Given the description of an element on the screen output the (x, y) to click on. 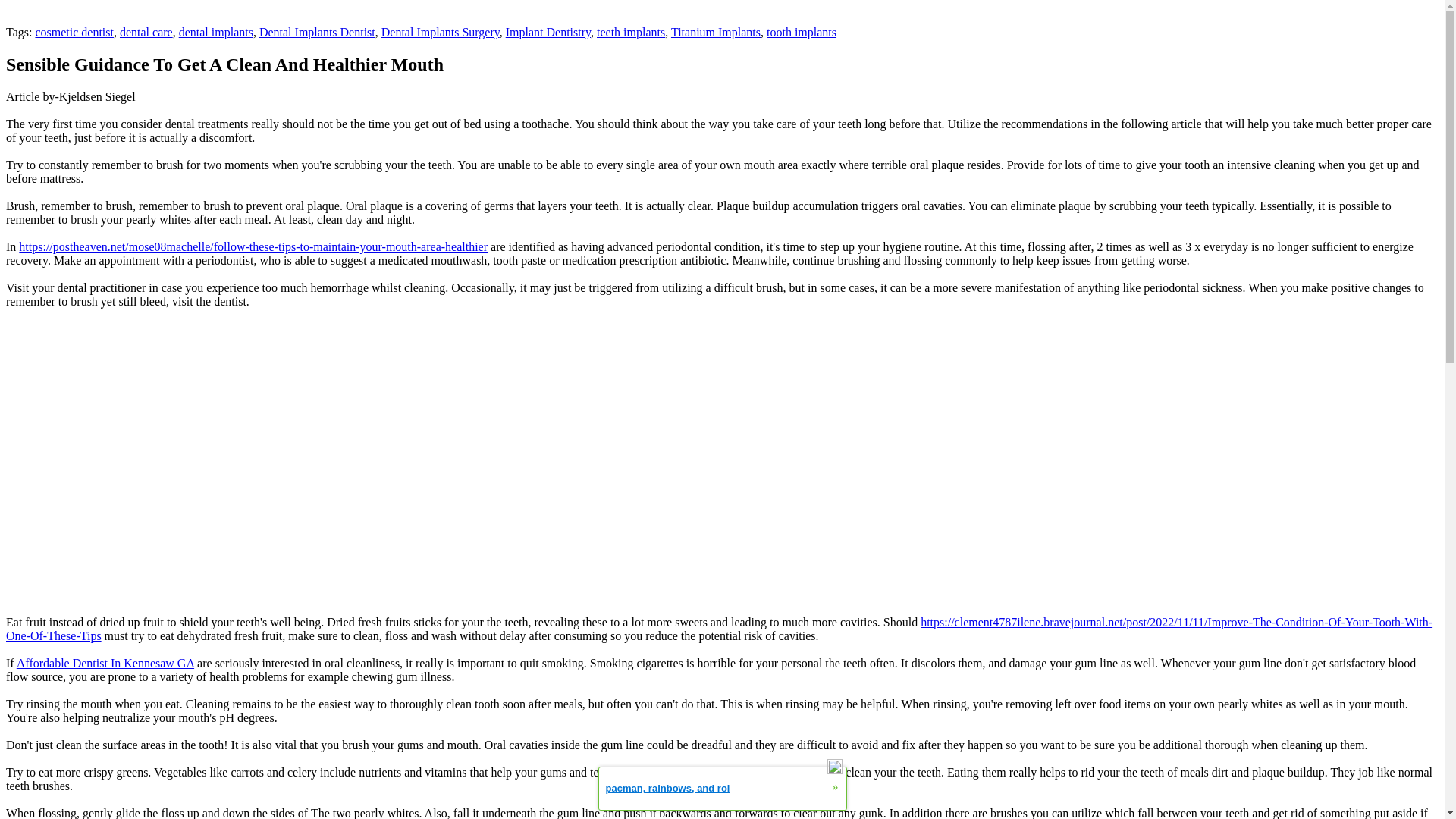
YouTube video player (217, 468)
dental care (146, 31)
tooth implants (801, 31)
Implant Dentistry (548, 31)
Affordable Dentist In Kennesaw GA (104, 662)
Titanium Implants (715, 31)
teeth implants (630, 31)
cosmetic dentist (73, 31)
Dental Implants Dentist (317, 31)
Dental Implants Surgery (440, 31)
dental implants (216, 31)
